Given the description of an element on the screen output the (x, y) to click on. 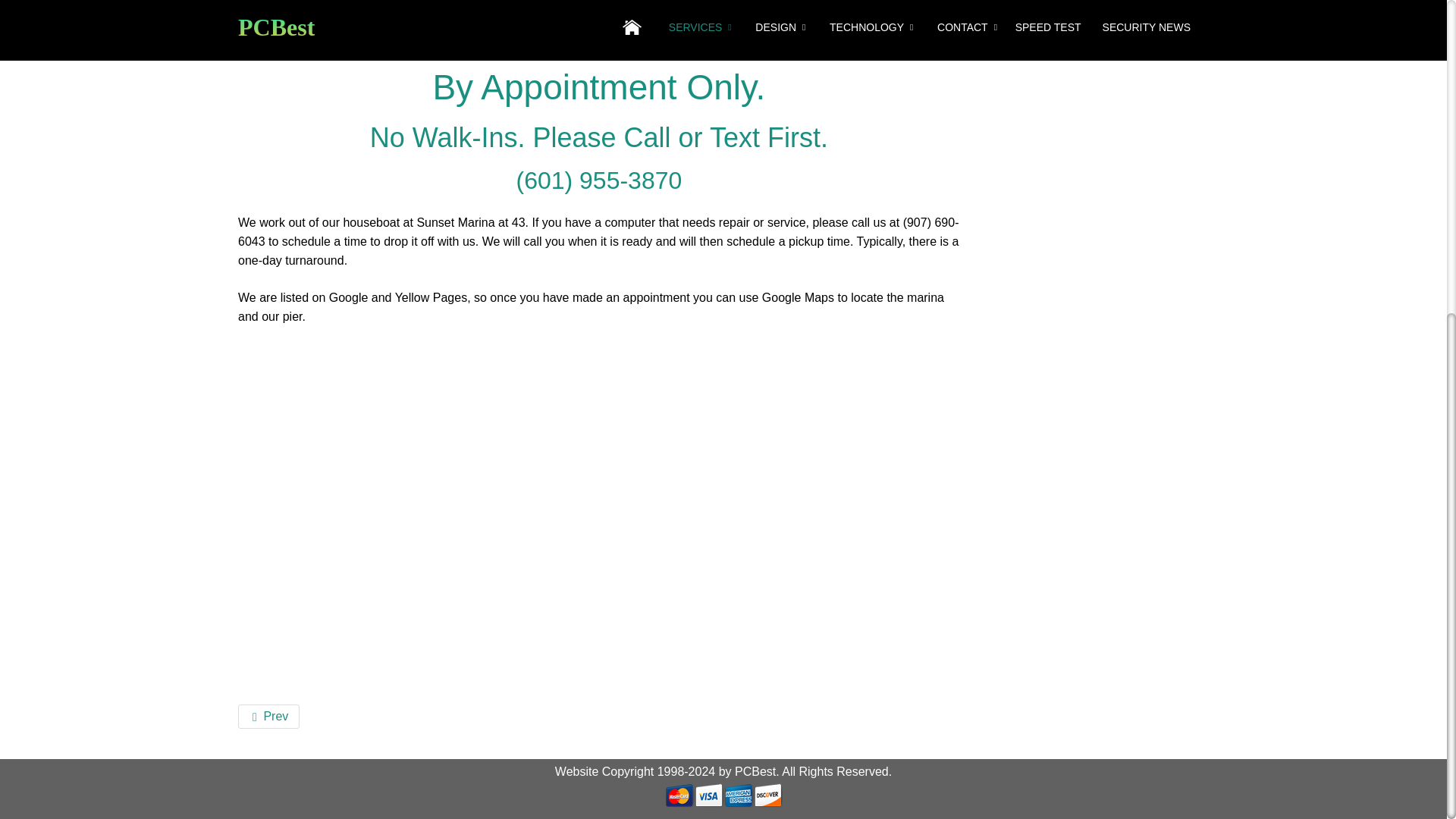
Prev (268, 716)
Services (302, 0)
Submit to Stumbleupon (362, 37)
we accept credit cards (722, 794)
Submit to Delicious (250, 37)
Submit to Twitter (390, 37)
Submit to Digg (277, 37)
Submit to Google Plus (333, 37)
Submit to Facebook (306, 37)
Submit to LinkedIn (418, 37)
